Given the description of an element on the screen output the (x, y) to click on. 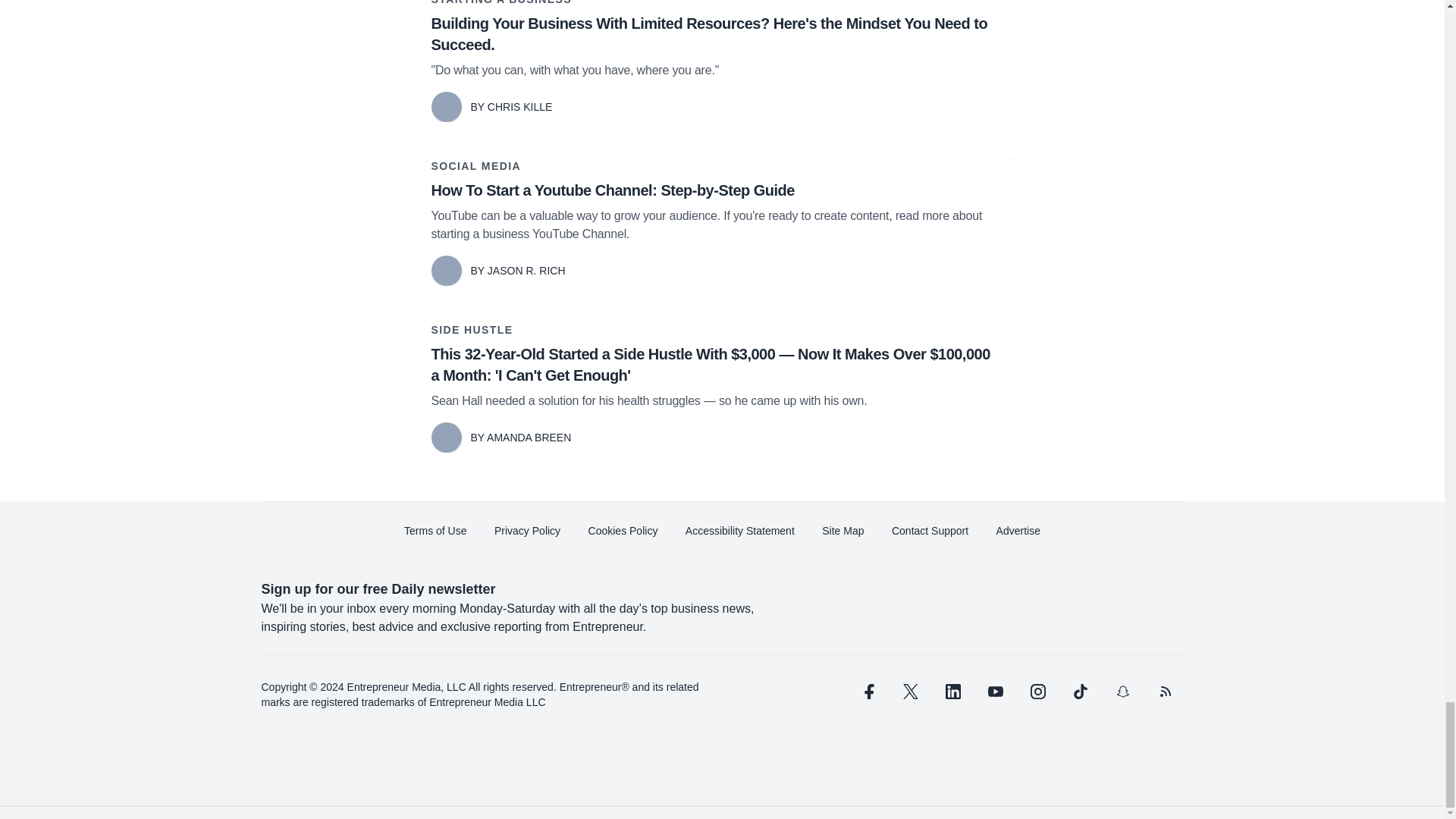
linkedin (952, 691)
snapchat (1121, 691)
facebook (866, 691)
youtube (994, 691)
twitter (909, 691)
instagram (1037, 691)
tiktok (1079, 691)
